Given the description of an element on the screen output the (x, y) to click on. 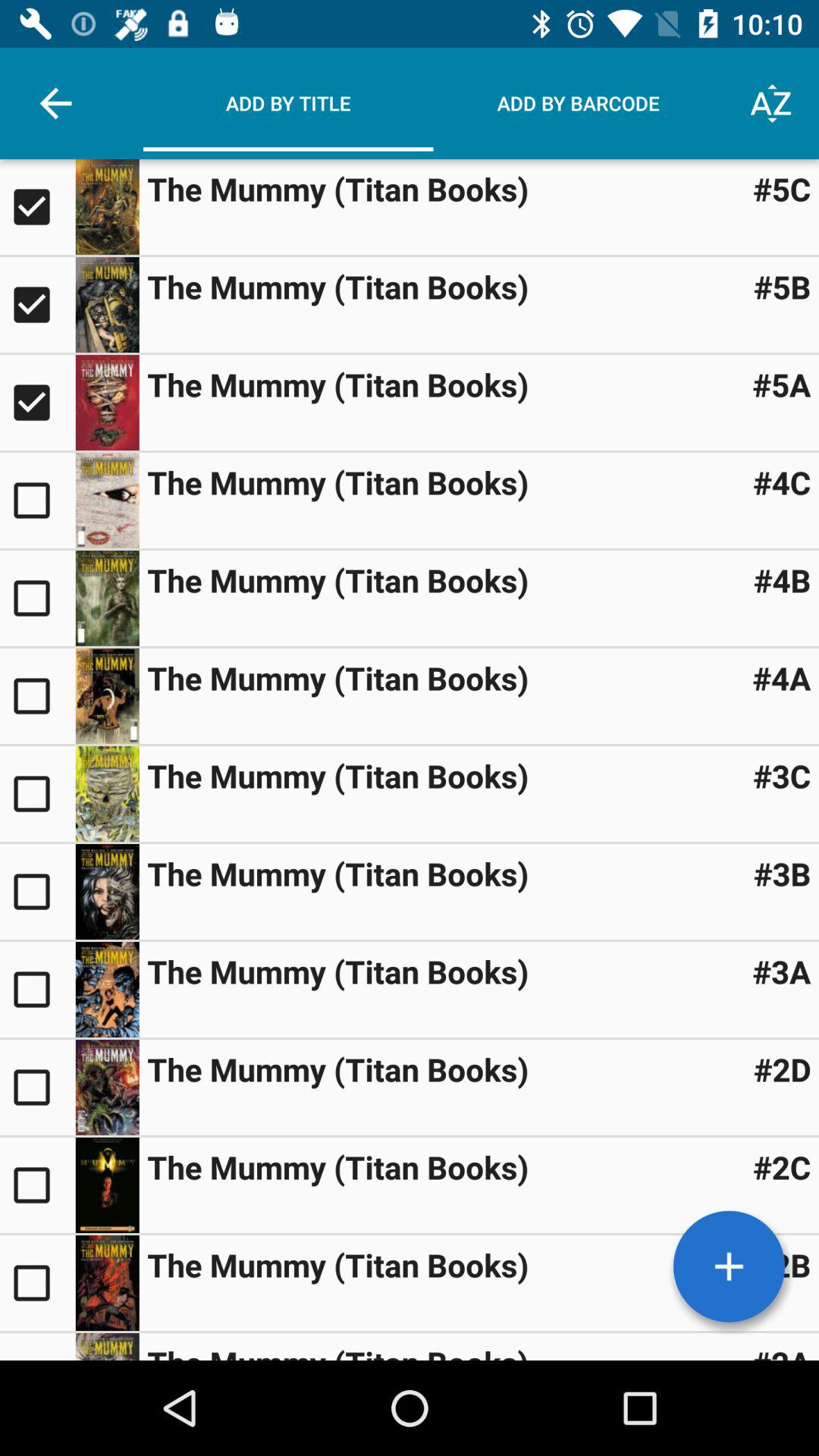
select this product (37, 598)
